Given the description of an element on the screen output the (x, y) to click on. 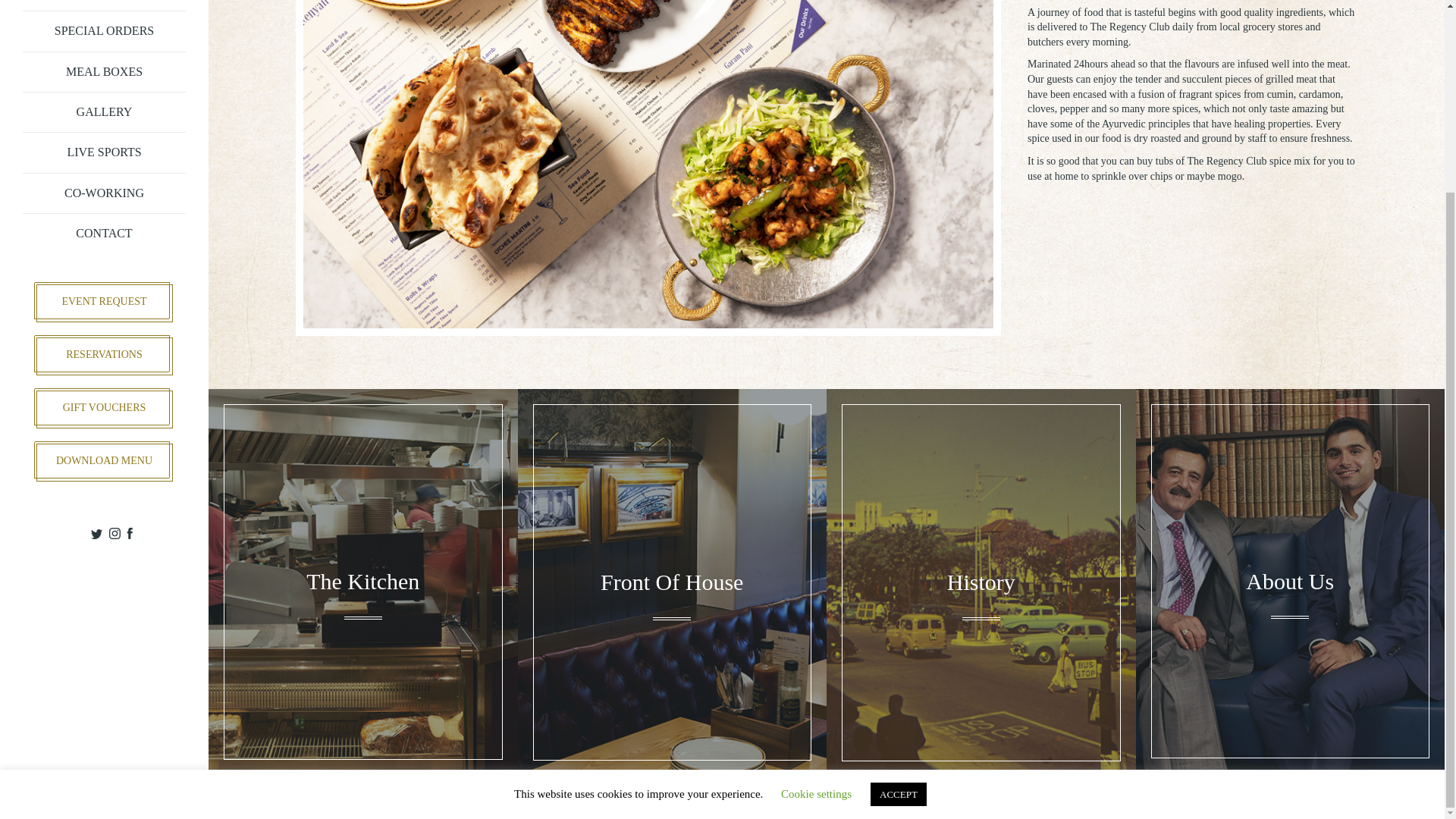
MEAL BOXES (104, 72)
CONTACT (104, 233)
SPECIAL ORDERS (104, 31)
CO-WORKING (104, 193)
GIFT VOUCHERS (104, 409)
RESERVATIONS (104, 356)
GALLERY (104, 112)
ORDER TAKEAWAY (104, 5)
DOWNLOAD MENU (104, 462)
EVENT REQUEST (104, 303)
LIVE SPORTS (104, 152)
